Given the description of an element on the screen output the (x, y) to click on. 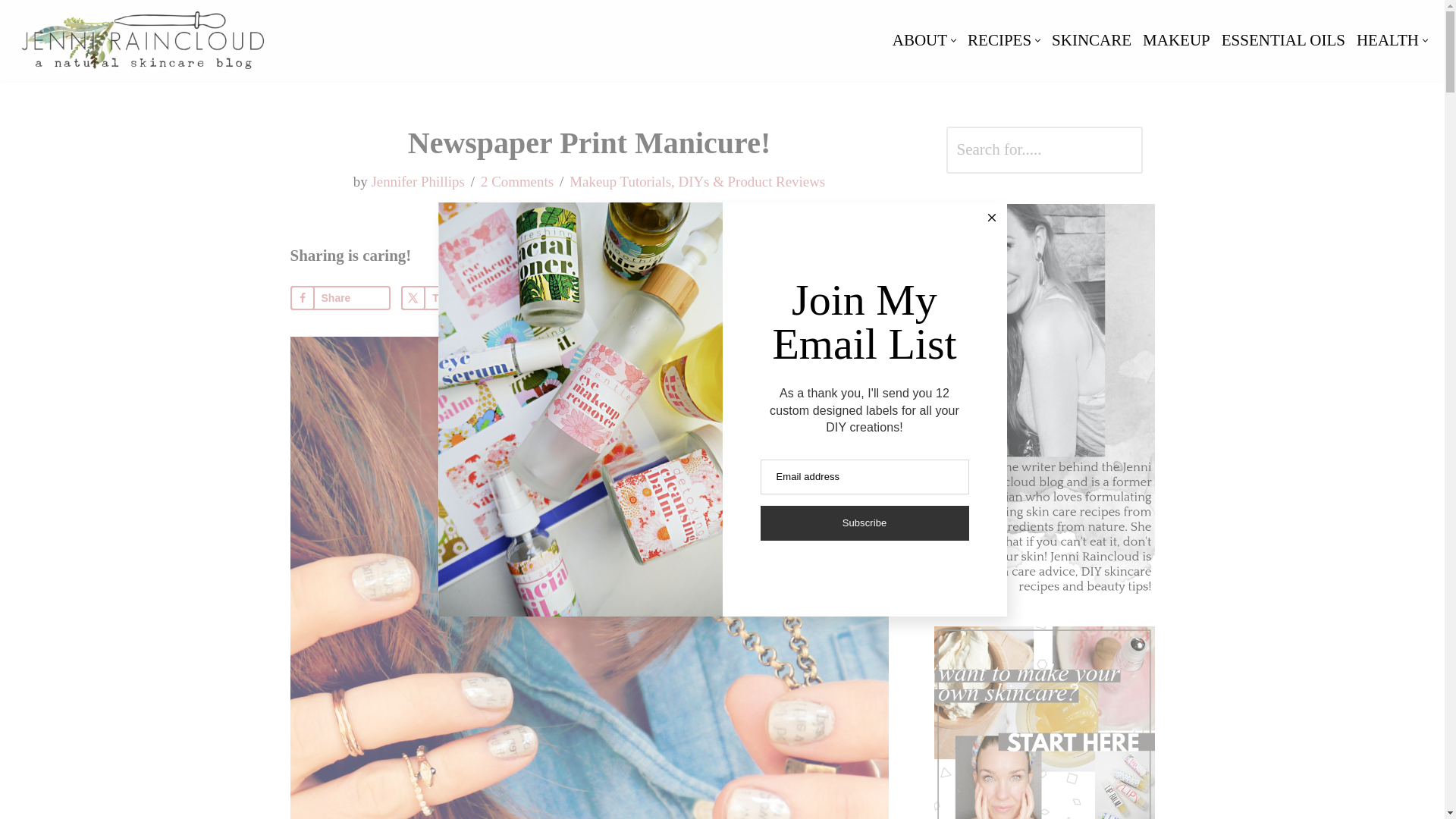
ESSENTIAL OILS (1283, 40)
HEALTH (1387, 40)
Share on X (450, 297)
Print this webpage (784, 297)
Share on Facebook (339, 297)
Save to Pinterest (562, 297)
MAKEUP (1175, 40)
ABOUT (919, 40)
SKINCARE (1091, 40)
Send over email (673, 297)
Posts by Jennifer Phillips (417, 181)
Skip to content (11, 31)
RECIPES (999, 40)
